Given the description of an element on the screen output the (x, y) to click on. 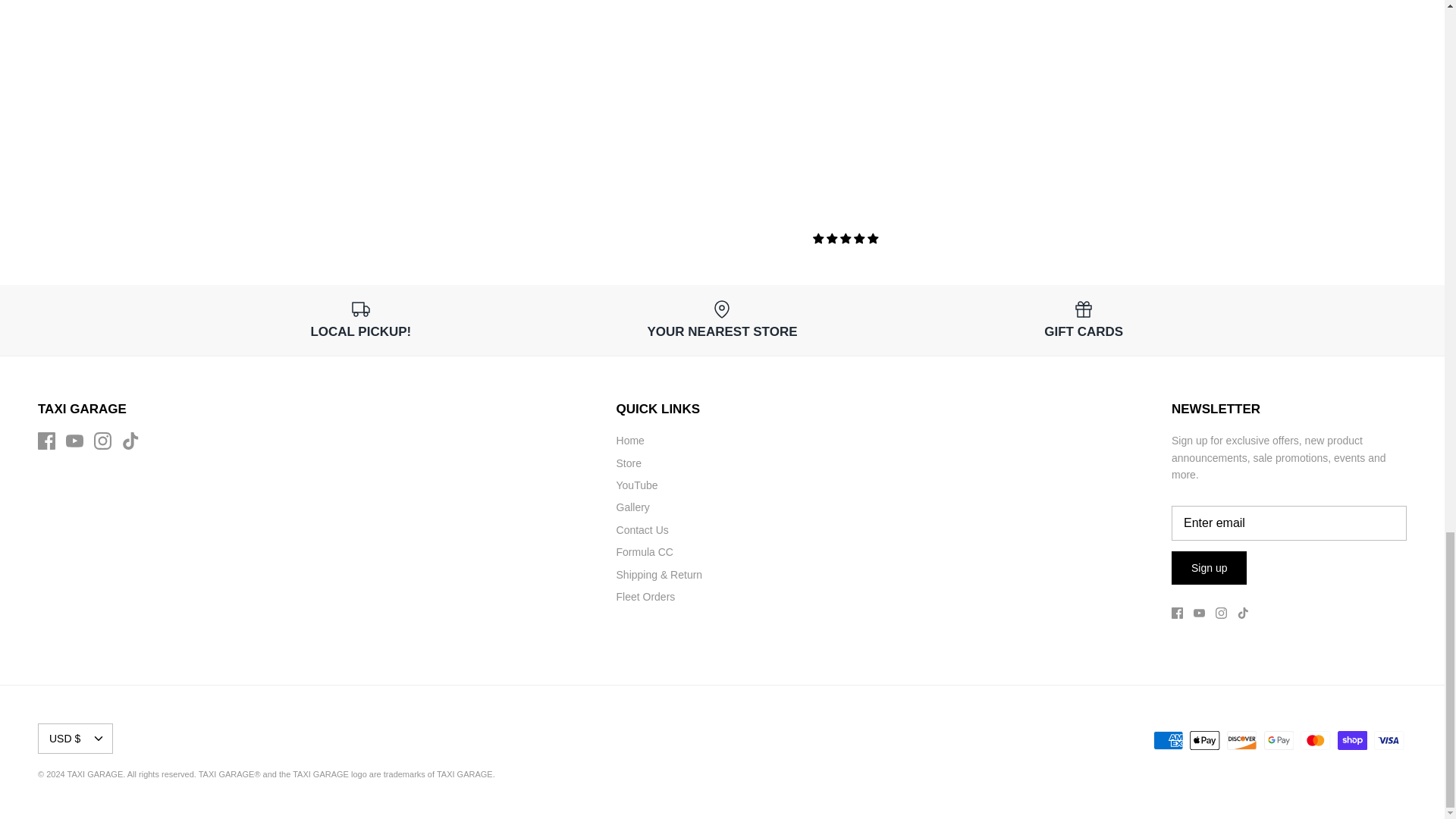
Apple Pay (1204, 740)
Facebook (1177, 613)
Facebook (46, 440)
Google Pay (1277, 740)
Instagram (1221, 613)
Youtube (73, 440)
American Express (1168, 740)
Instagram (103, 440)
Discover (1241, 740)
Youtube (1199, 613)
